Given the description of an element on the screen output the (x, y) to click on. 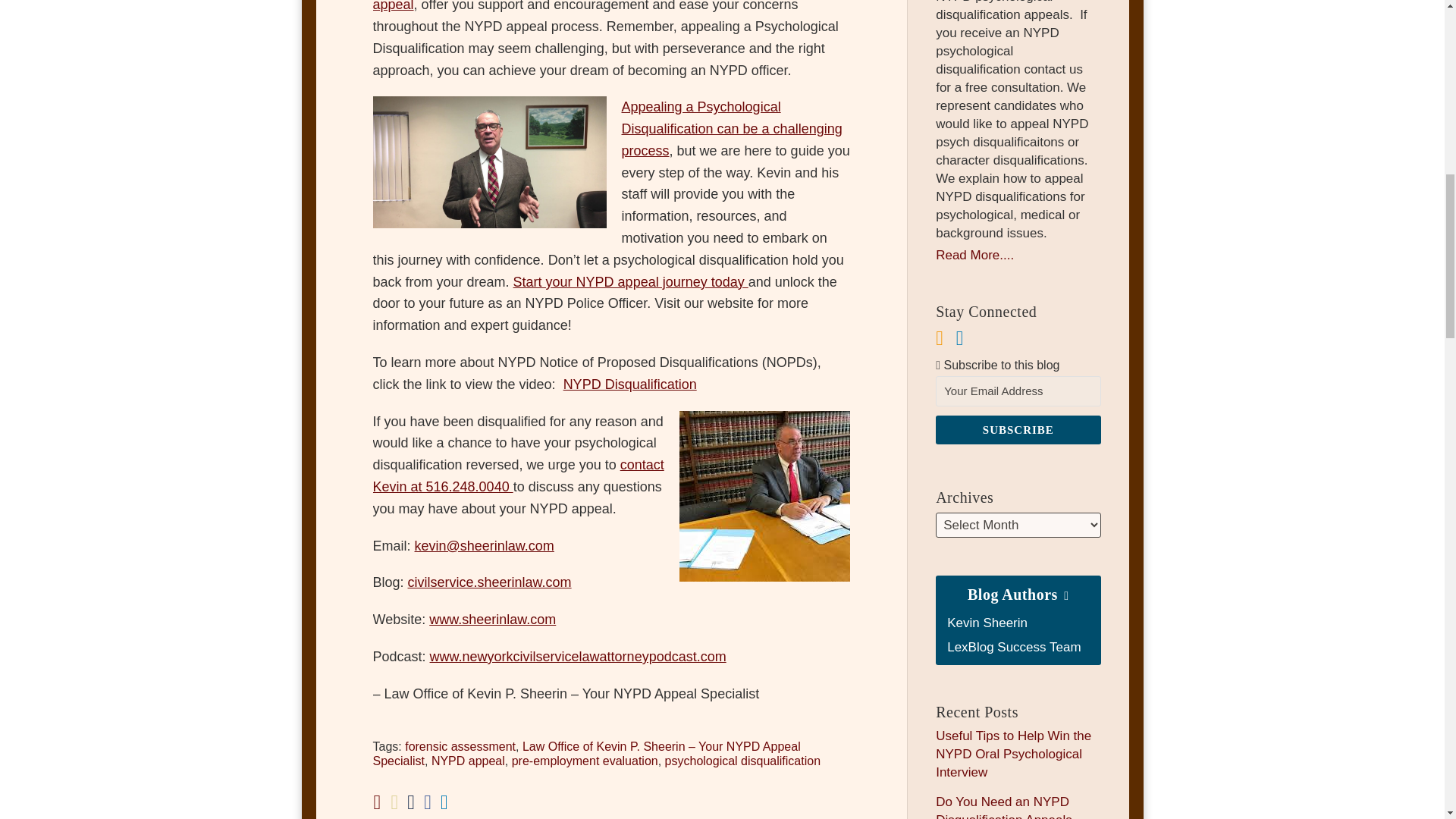
Tweet this post (410, 802)
pre-employment evaluation (585, 760)
Email this post (393, 802)
forensic assessment (459, 746)
Share this post on LinkedIn (444, 802)
www.newyorkcivilservicelawattorneypodcast.com (577, 656)
civilservice.sheerinlaw.com (489, 581)
Read More.... (1018, 255)
www.sheerinlaw.com (492, 619)
Subscribe (1018, 429)
NYPD appeal (467, 760)
RSS (939, 338)
Kevin P. Sheerin is here to assist you with your NYPD appeal (590, 6)
Like this post (426, 802)
